Given the description of an element on the screen output the (x, y) to click on. 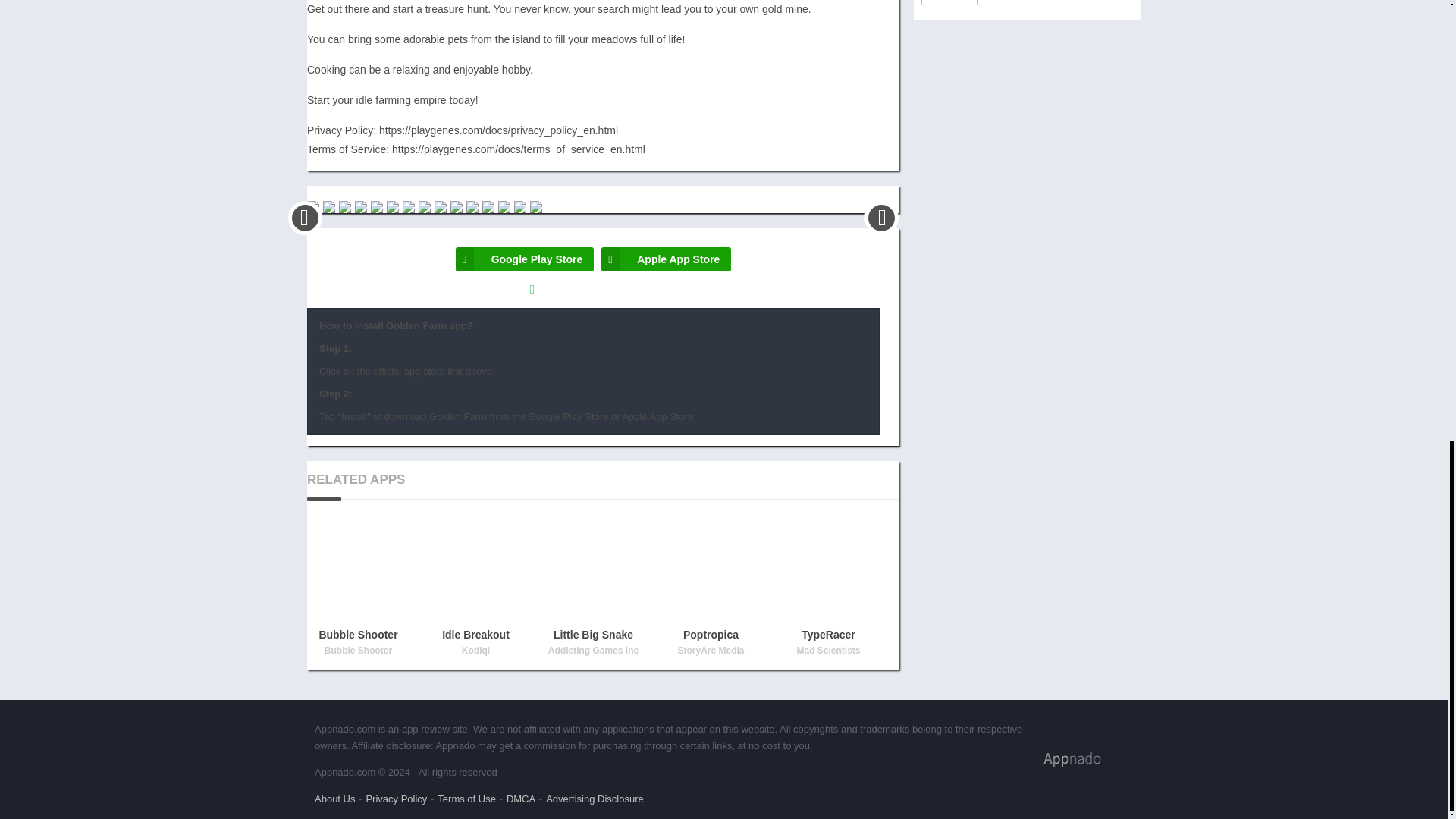
Apple App Store (665, 259)
Google Play Store (524, 259)
